Given the description of an element on the screen output the (x, y) to click on. 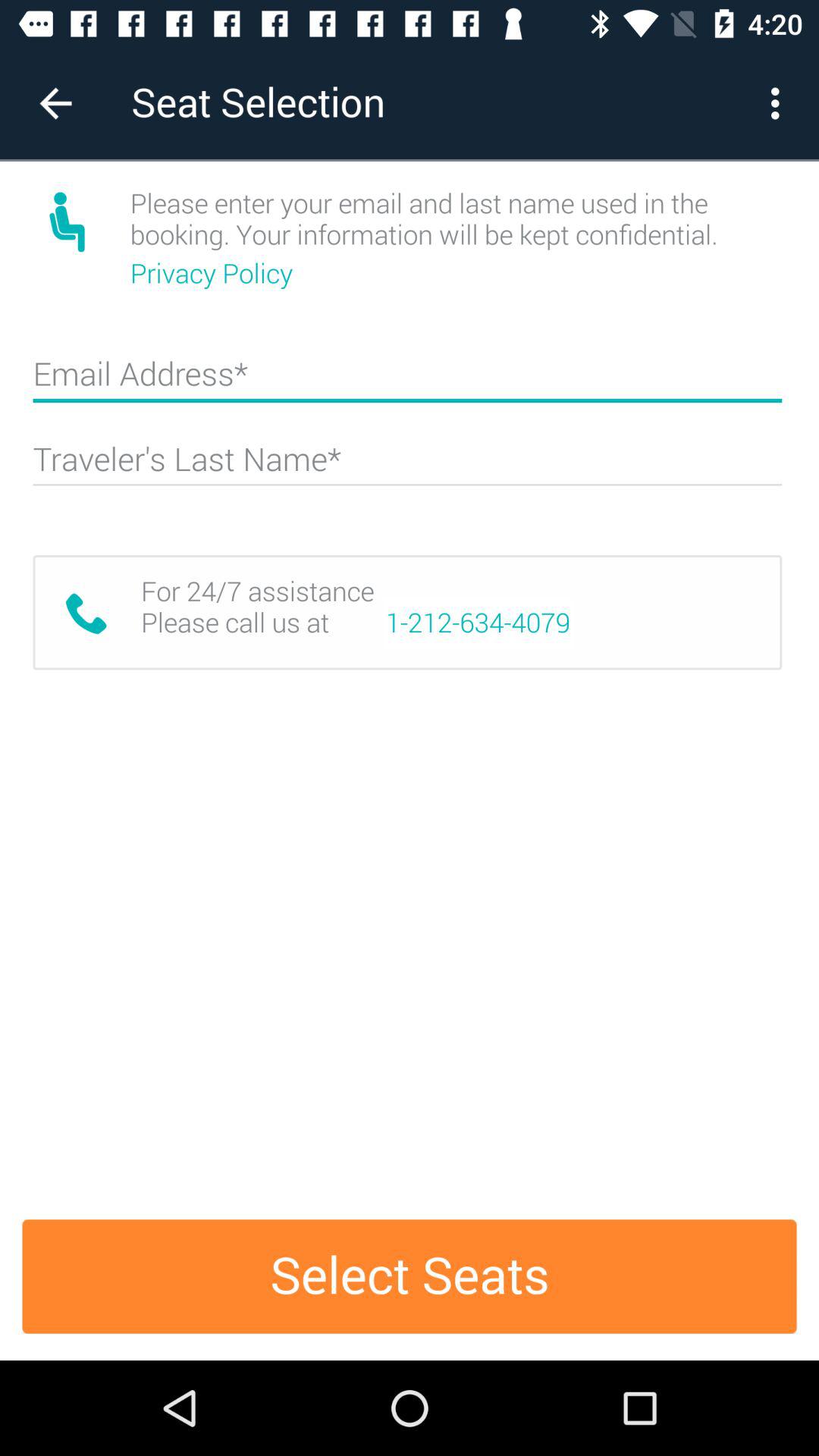
turn off icon below please enter your icon (214, 272)
